Given the description of an element on the screen output the (x, y) to click on. 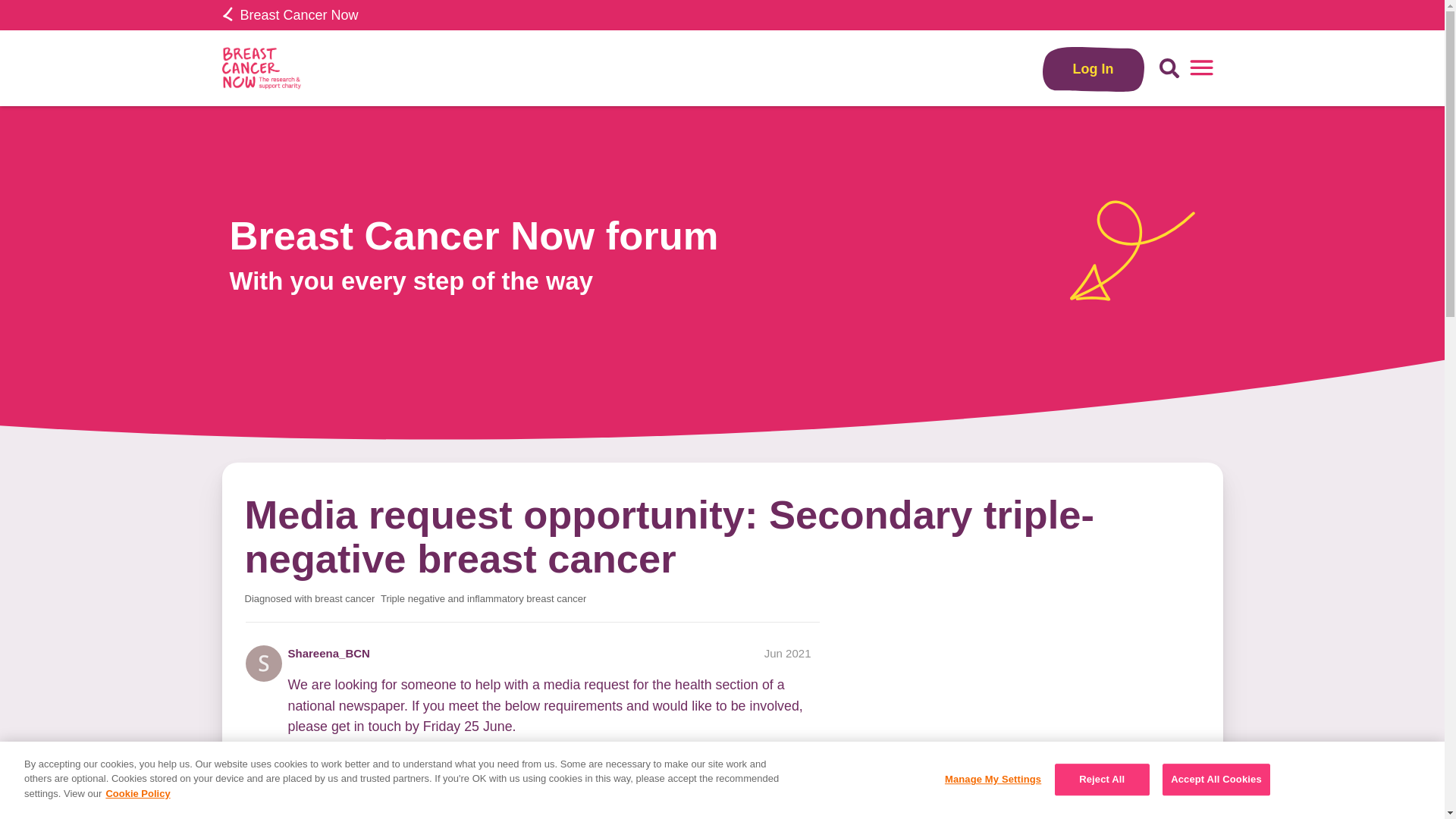
menu (1201, 67)
Jun 2021 (787, 653)
Log In (1093, 68)
Triple negative and inflammatory breast cancer (483, 599)
Search (1169, 68)
Post date (787, 653)
Breast Cancer Now (289, 15)
Diagnosed with breast cancer (309, 599)
